Given the description of an element on the screen output the (x, y) to click on. 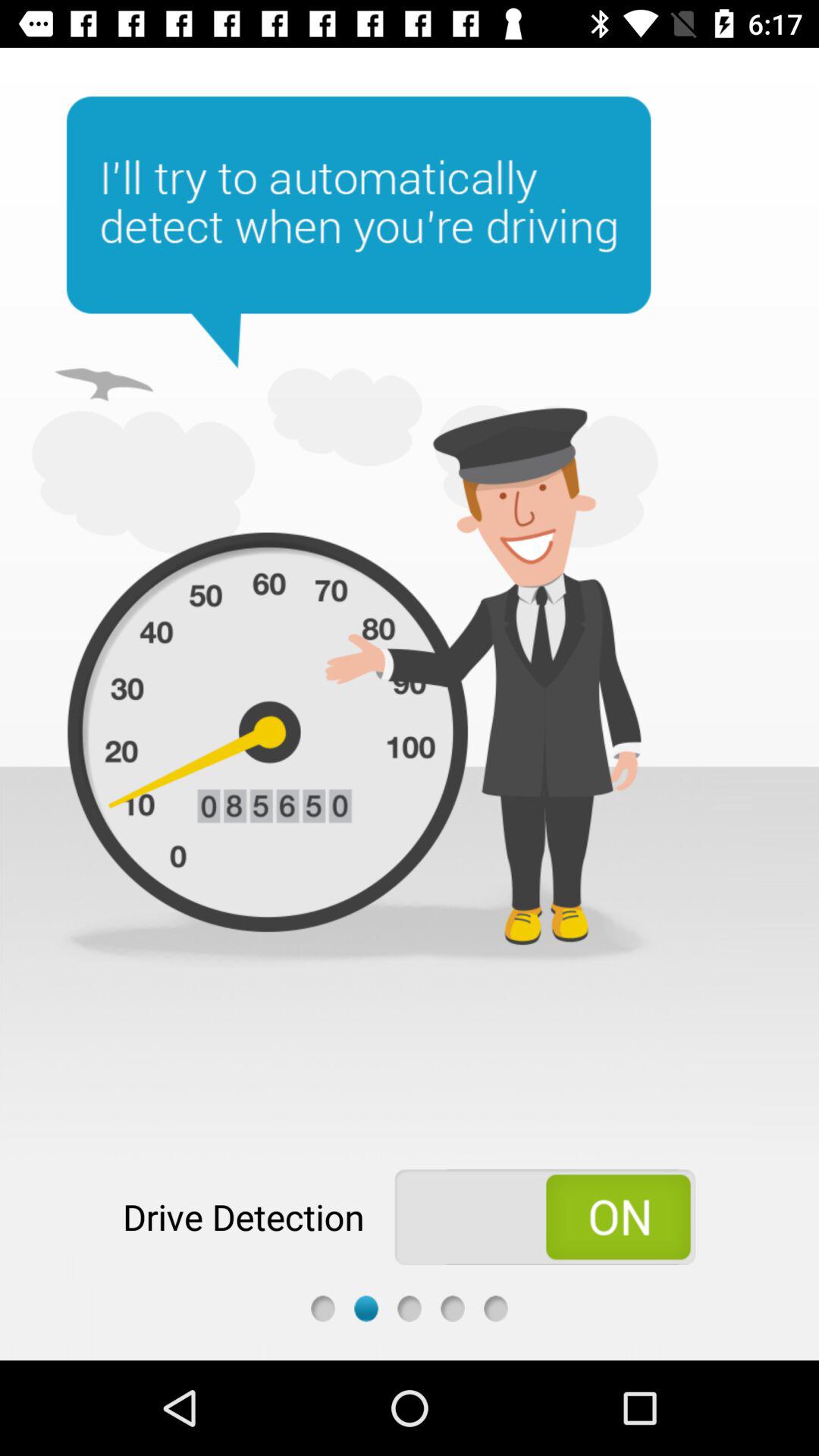
next page (452, 1308)
